Given the description of an element on the screen output the (x, y) to click on. 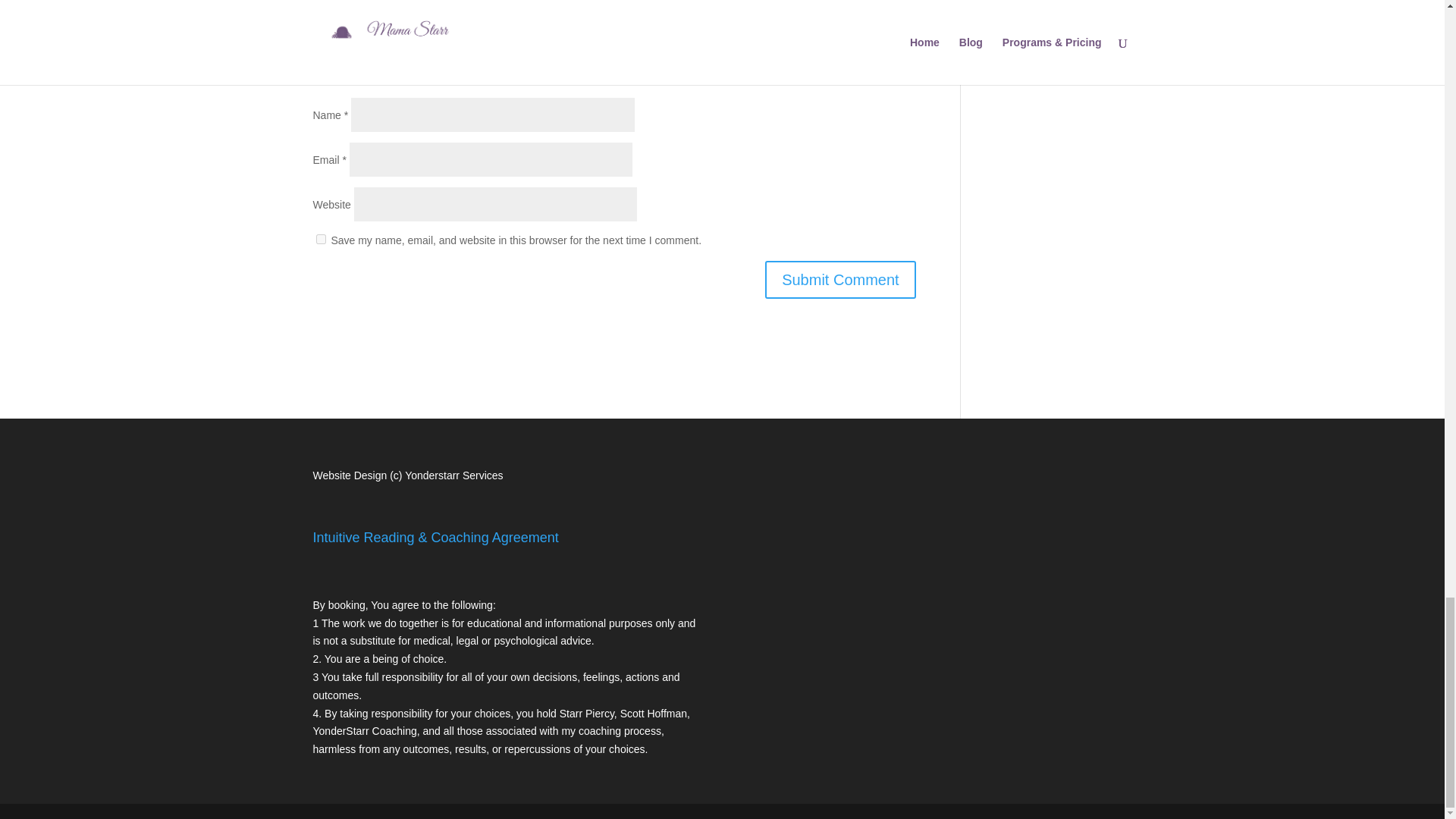
Submit Comment (840, 279)
yes (319, 239)
Submit Comment (840, 279)
